Given the description of an element on the screen output the (x, y) to click on. 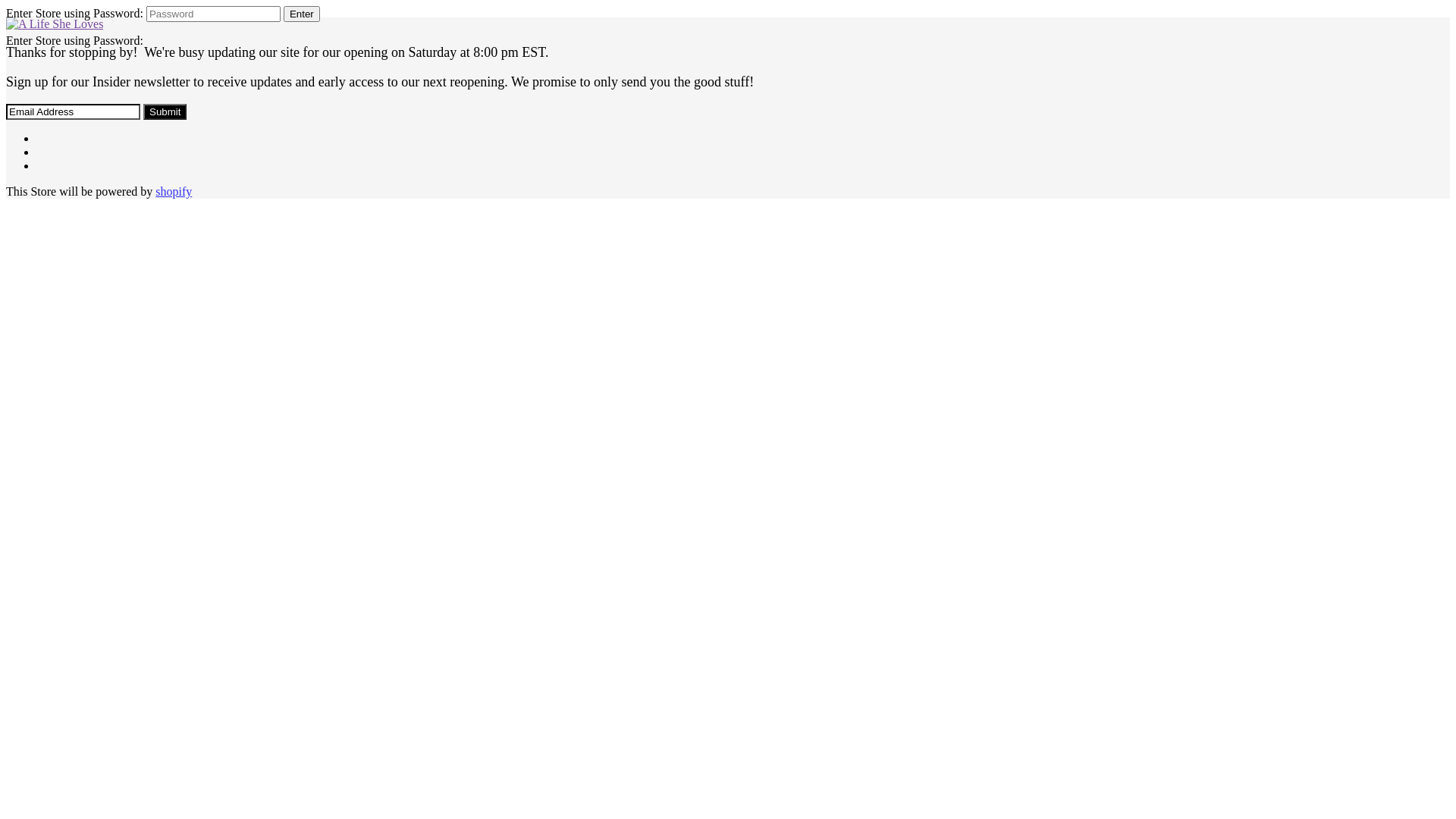
Submit Element type: text (164, 111)
Enter Element type: text (301, 13)
shopify Element type: text (173, 191)
